Given the description of an element on the screen output the (x, y) to click on. 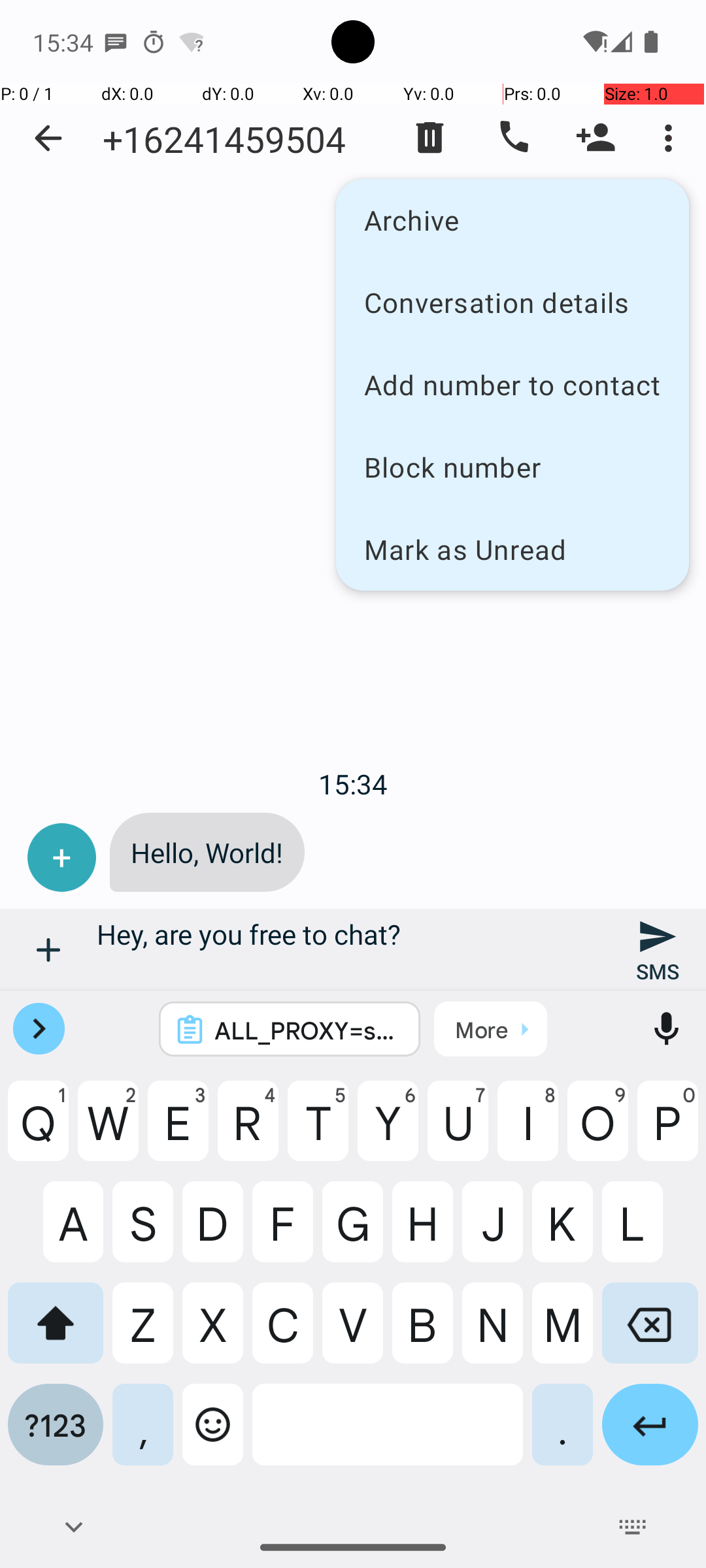
Archive Element type: android.widget.TextView (512, 219)
Conversation details Element type: android.widget.TextView (512, 301)
Add number to contact Element type: android.widget.TextView (512, 384)
Block number Element type: android.widget.TextView (512, 466)
Mark as Unread Element type: android.widget.TextView (512, 548)
